Given the description of an element on the screen output the (x, y) to click on. 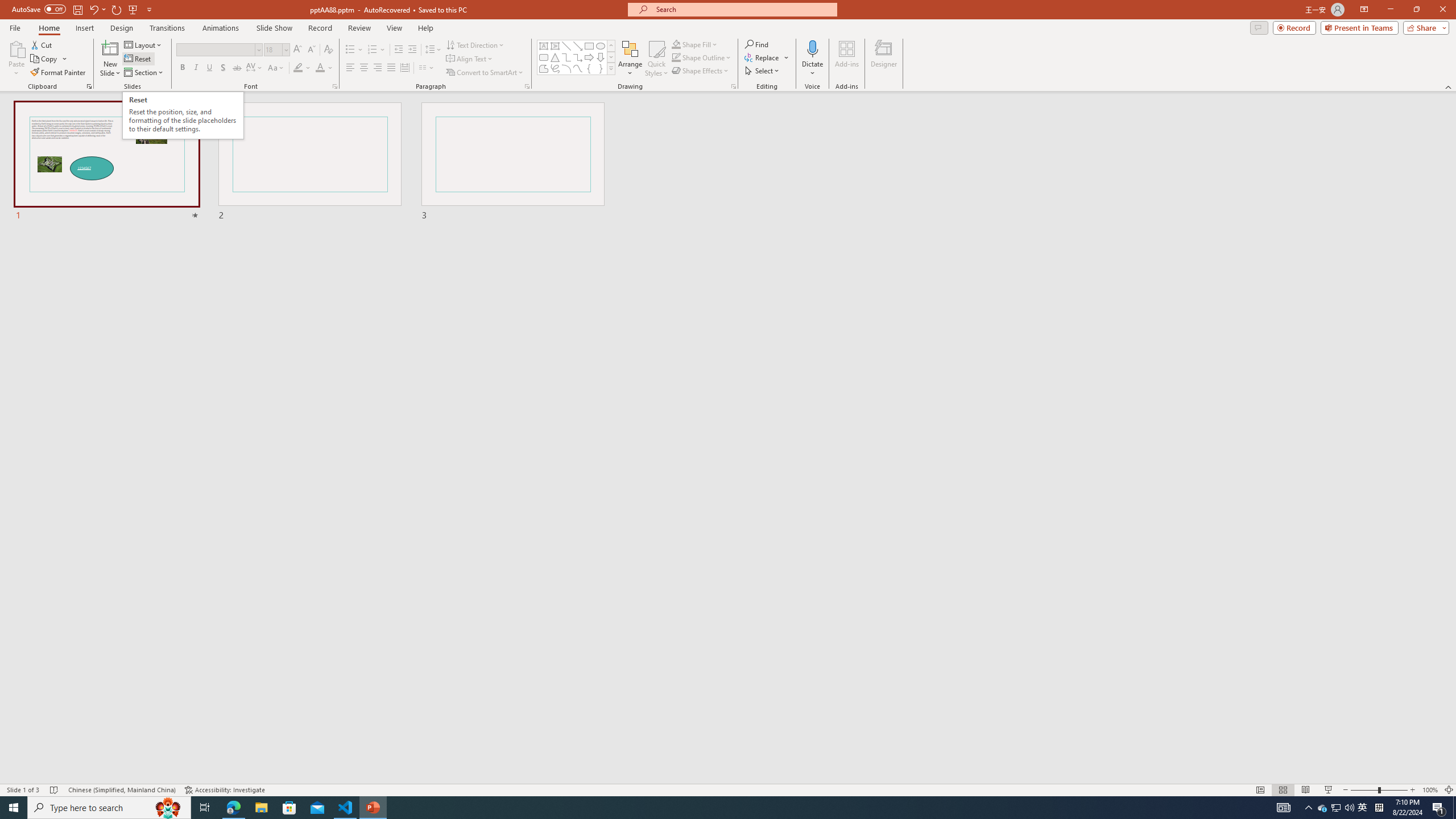
Zoom 100% (1430, 790)
